Given the description of an element on the screen output the (x, y) to click on. 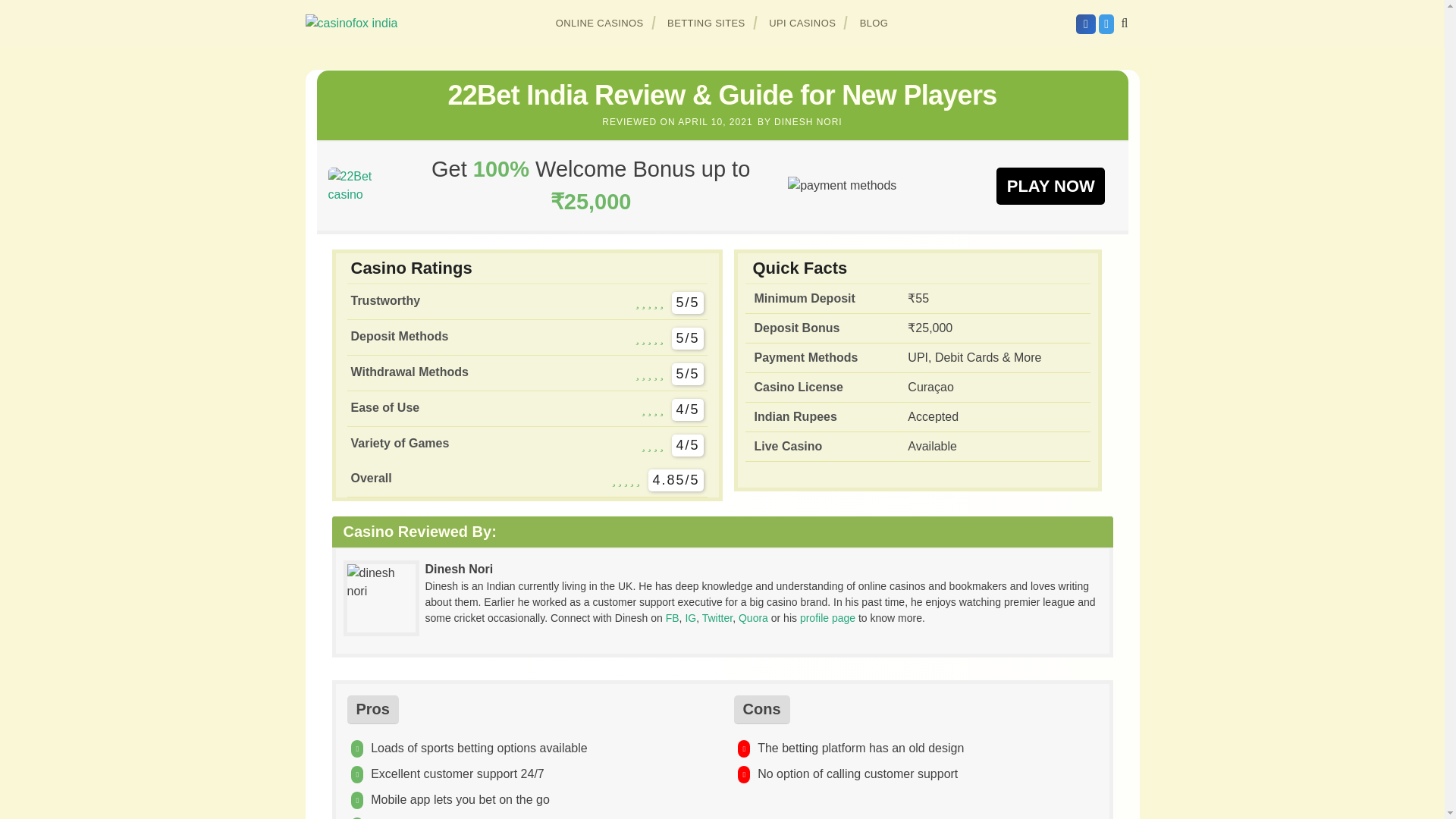
Twitter (716, 617)
22Bet (1050, 185)
ONLINE CASINOS (599, 23)
UPI CASINOS (801, 23)
Quora (753, 617)
profile page (827, 617)
FB (672, 617)
PLAY NOW (1050, 185)
IG (689, 617)
BETTING SITES (706, 23)
